Given the description of an element on the screen output the (x, y) to click on. 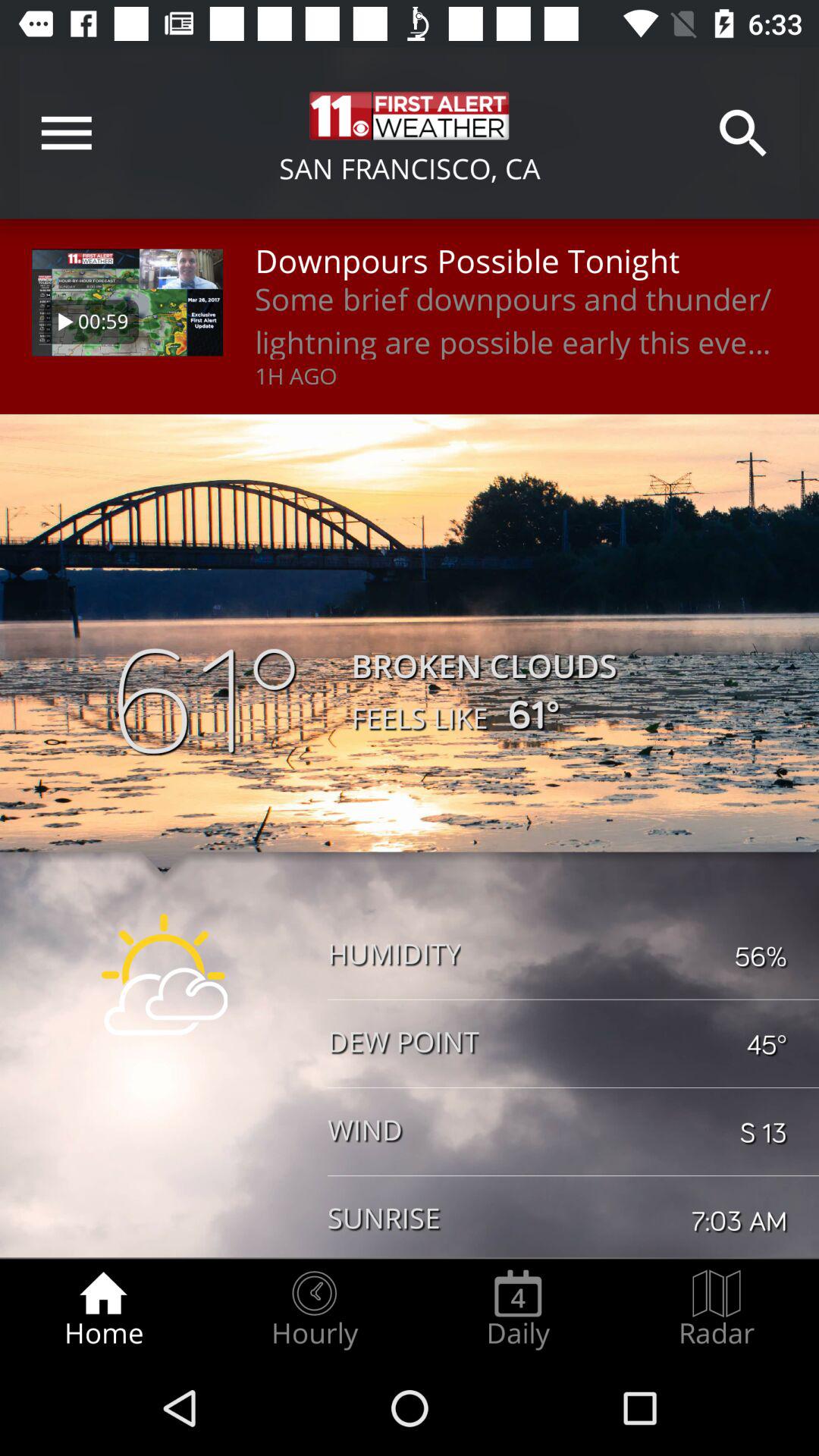
launch the item to the left of the radar icon (518, 1309)
